Given the description of an element on the screen output the (x, y) to click on. 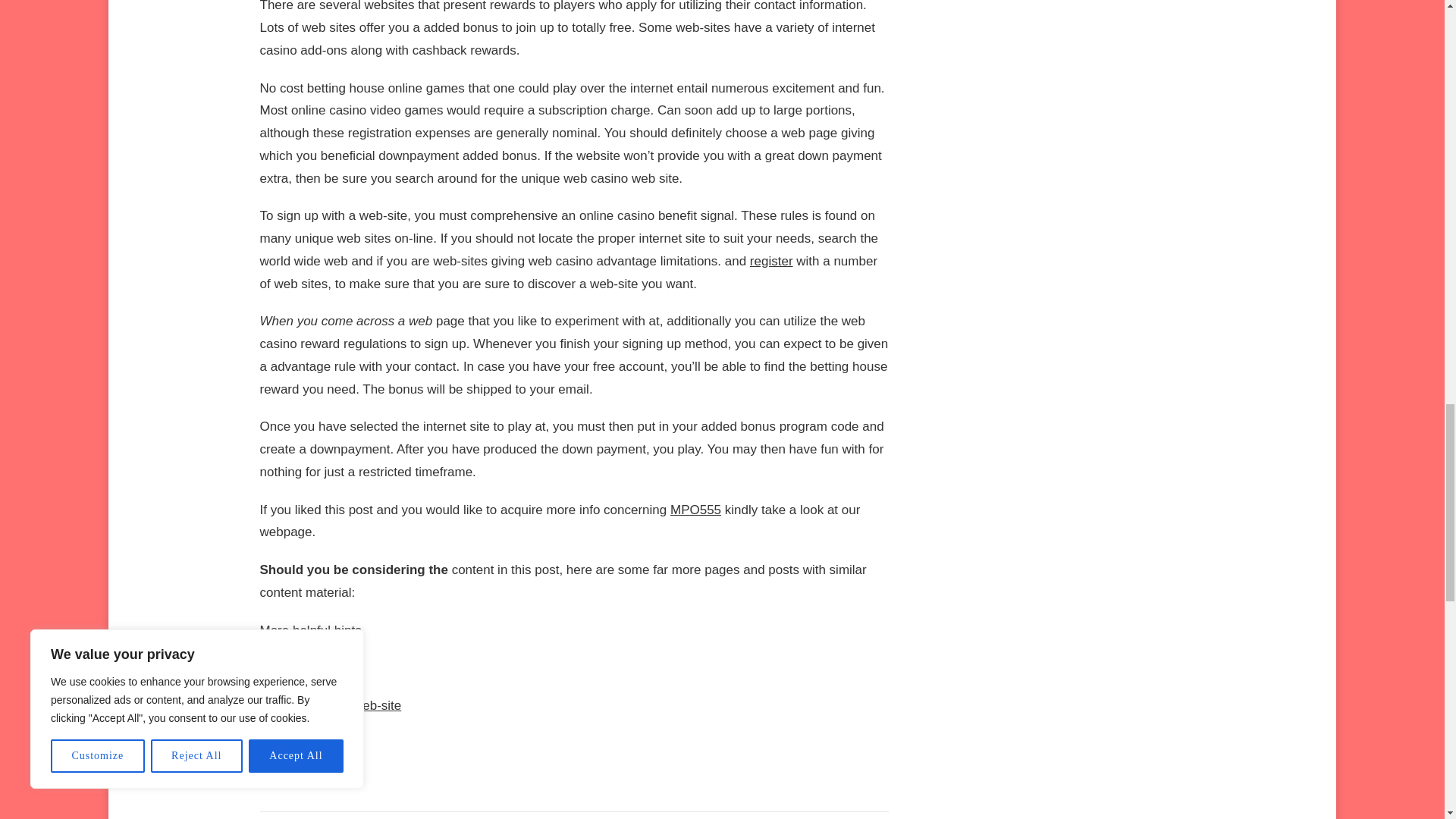
Recommended Web-site (330, 705)
MPO555 (694, 509)
Read Much more (308, 667)
register (771, 260)
More helpful hints (310, 630)
